Given the description of an element on the screen output the (x, y) to click on. 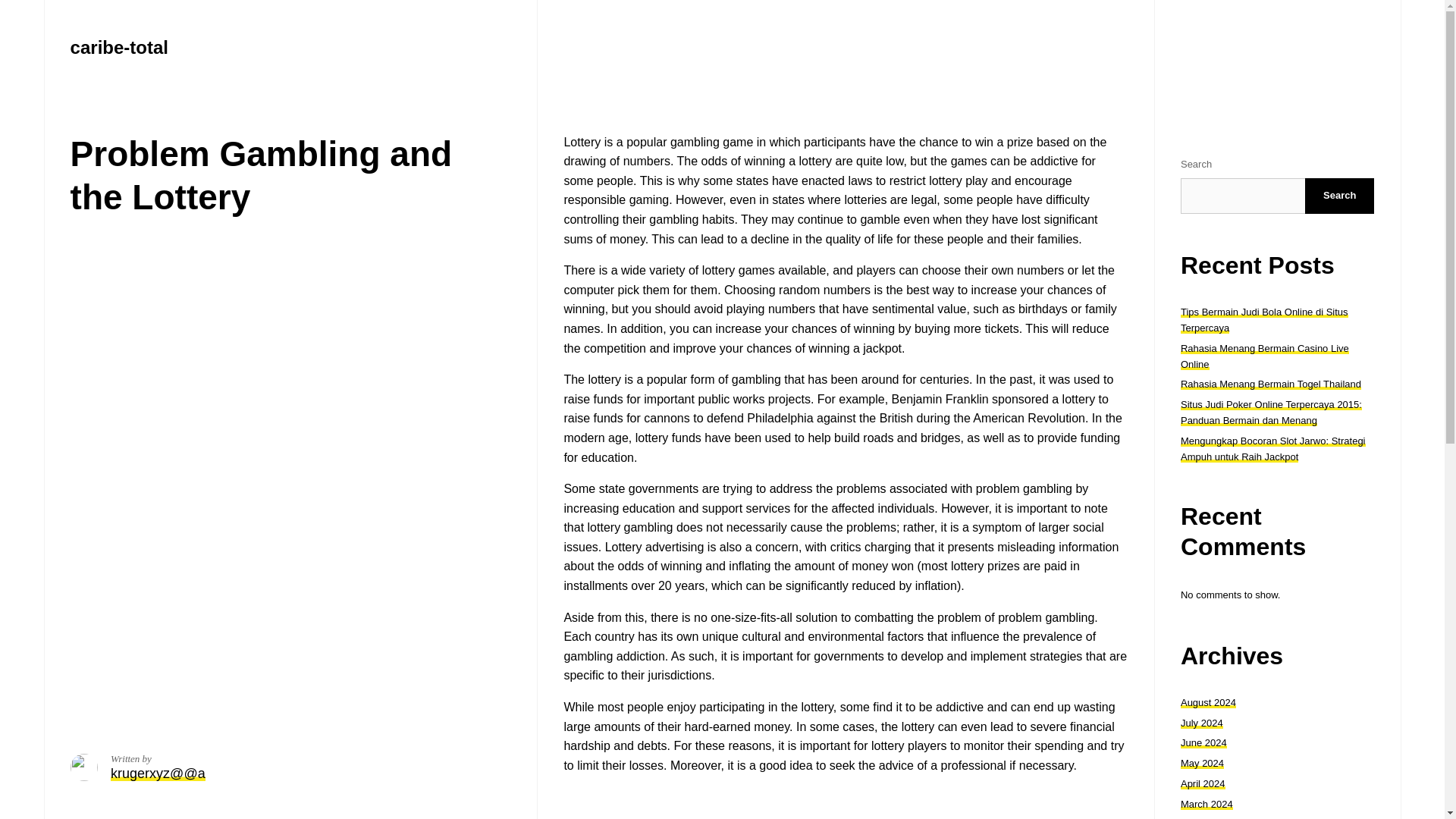
caribe-total (118, 47)
Rahasia Menang Bermain Togel Thailand (1270, 383)
August 2024 (1208, 702)
Search (1339, 195)
Tips Bermain Judi Bola Online di Situs Terpercaya (1264, 319)
March 2024 (1206, 803)
July 2024 (1201, 722)
Rahasia Menang Bermain Casino Live Online (1264, 356)
April 2024 (1202, 783)
